Given the description of an element on the screen output the (x, y) to click on. 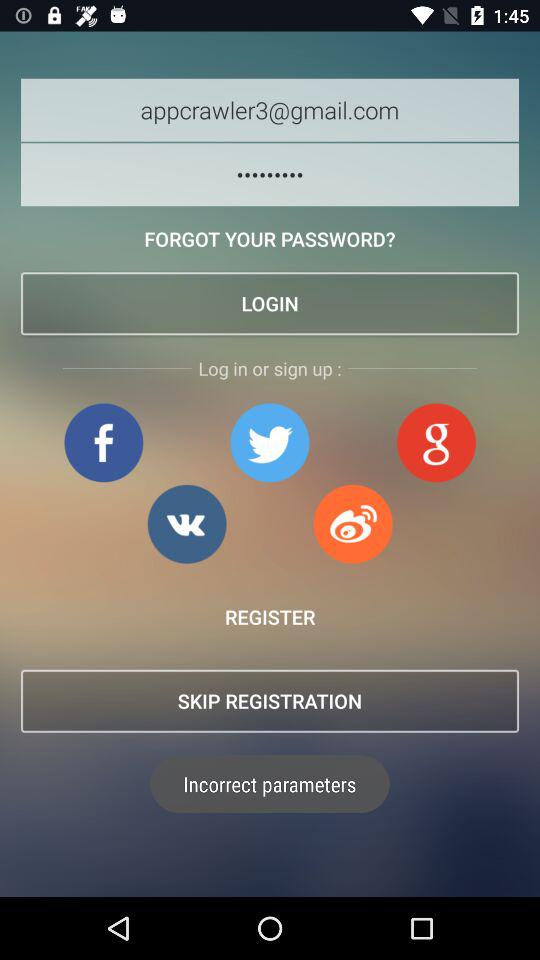
social media (186, 523)
